Given the description of an element on the screen output the (x, y) to click on. 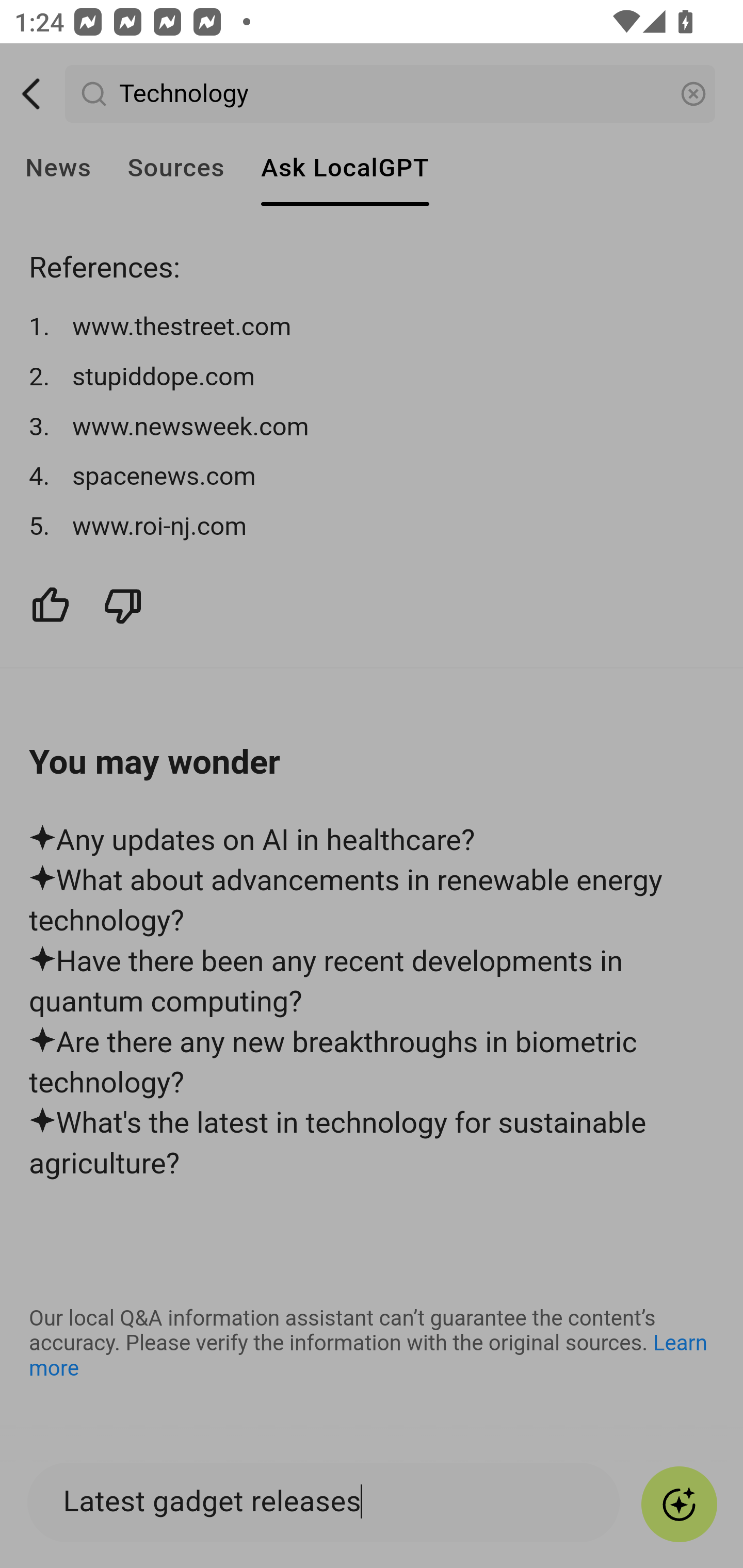
Technology (390, 93)
News (58, 168)
Sources (175, 168)
Ask LocalGPT (344, 168)
1. www.thestreet.com 1. www.thestreet.com (372, 327)
2. stupiddope.com 2. stupiddope.com (372, 377)
3. www.newsweek.com 3. www.newsweek.com (372, 426)
4. spacenews.com 4. spacenews.com (372, 476)
5. www.roi-nj.com 5. www.roi-nj.com (372, 525)
Any updates on AI in healthcare? (372, 840)
Latest gadget releases (333, 1501)
